Given the description of an element on the screen output the (x, y) to click on. 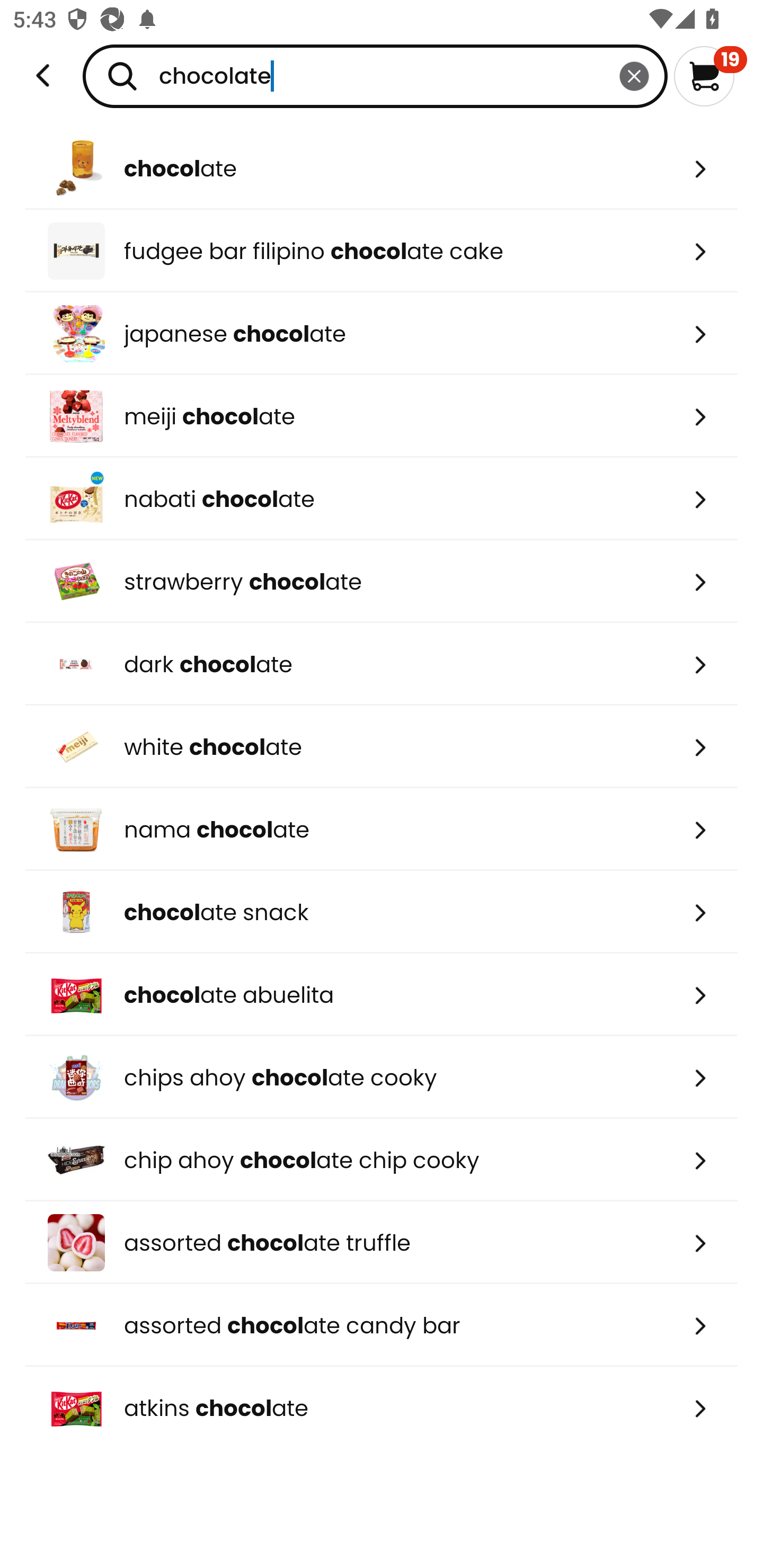
chocolate (374, 75)
19 (709, 75)
Weee! (42, 76)
chocolate (381, 168)
fudgee bar filipino chocolate cake (381, 250)
japanese chocolate (381, 332)
meiji chocolate (381, 415)
nabati chocolate (381, 498)
strawberry chocolate (381, 581)
dark chocolate (381, 663)
white chocolate (381, 746)
nama chocolate (381, 829)
chocolate snack (381, 911)
chocolate abuelita (381, 994)
chips ahoy chocolate cooky (381, 1077)
chip ahoy chocolate chip cooky (381, 1160)
assorted chocolate truffle (381, 1242)
assorted chocolate candy bar (381, 1325)
atkins chocolate (381, 1407)
